Given the description of an element on the screen output the (x, y) to click on. 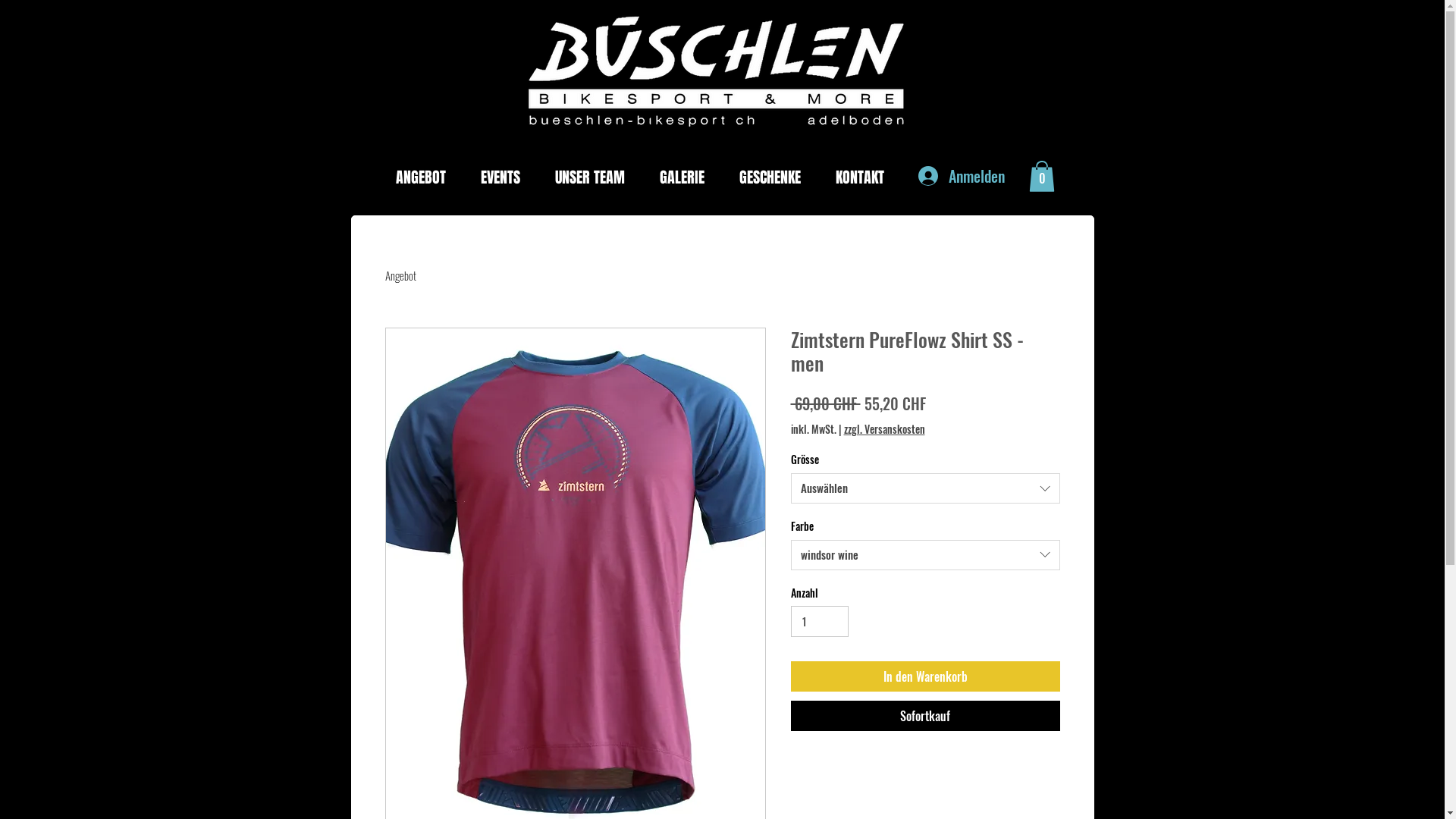
UNSER TEAM Element type: text (594, 177)
Sofortkauf Element type: text (924, 715)
Anmelden Element type: text (960, 175)
KONTAKT Element type: text (864, 177)
0 Element type: text (1041, 175)
EVENTS Element type: text (505, 177)
windsor wine Element type: text (924, 554)
zzgl. Versanskosten Element type: text (883, 428)
GESCHENKE Element type: text (776, 177)
GALERIE Element type: text (687, 177)
ANGEBOT Element type: text (425, 177)
Angebot Element type: text (400, 274)
In den Warenkorb Element type: text (924, 676)
